Given the description of an element on the screen output the (x, y) to click on. 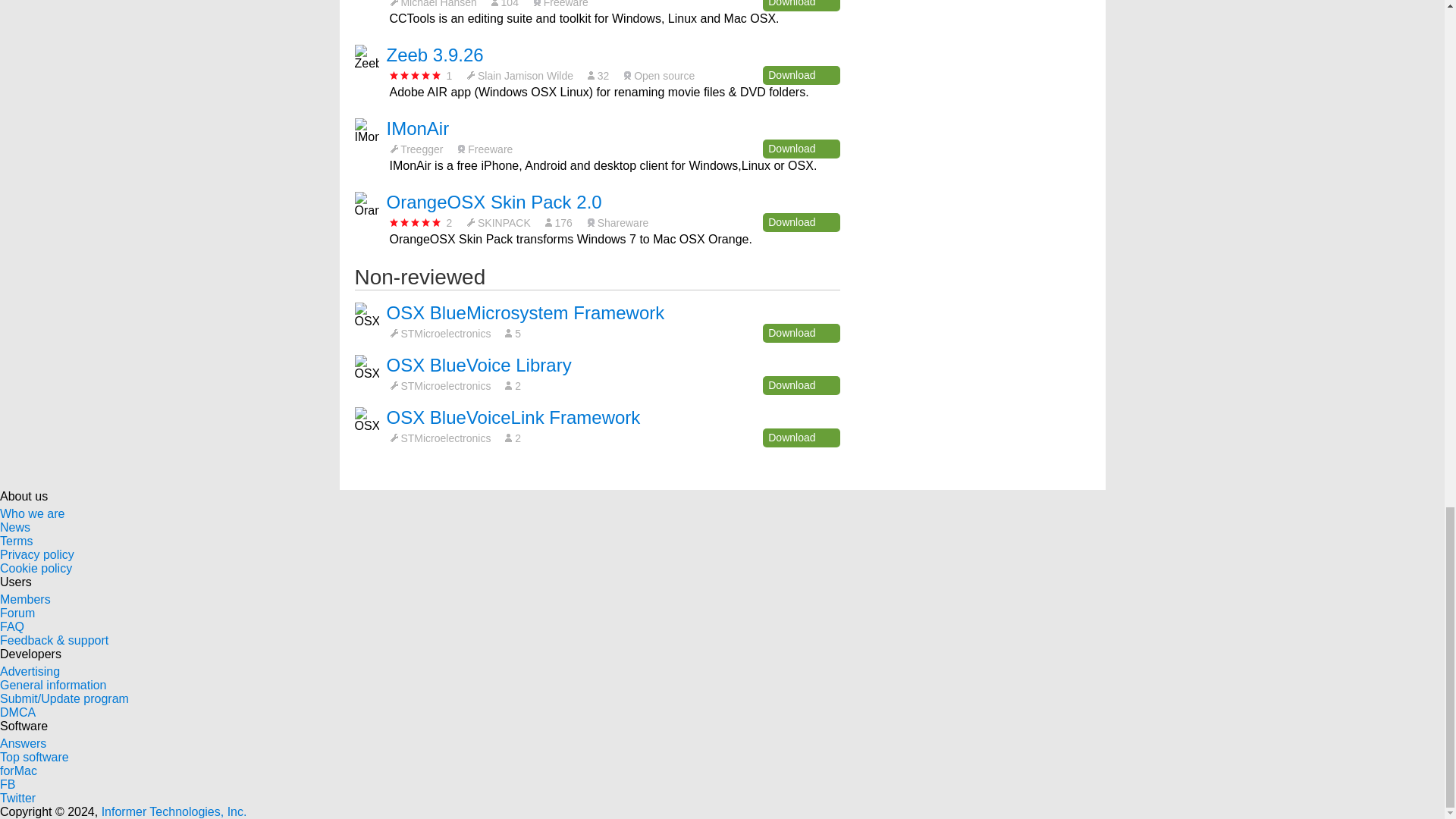
Zeeb 3.9.26 (435, 55)
Download (801, 5)
Download (801, 75)
